Given the description of an element on the screen output the (x, y) to click on. 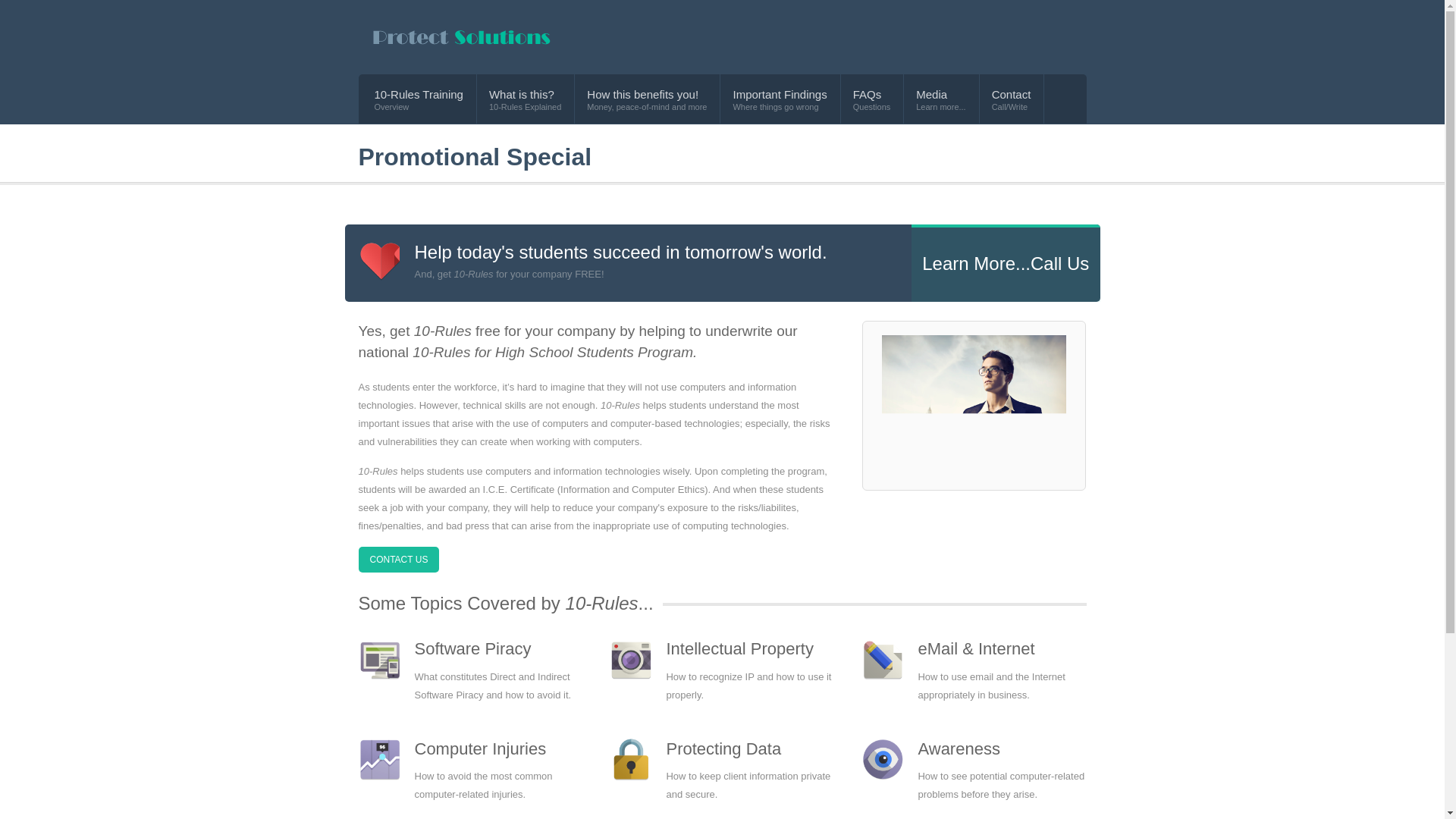
How this benefits you! (646, 93)
10-Rules Explained (524, 106)
Contact (1010, 93)
Where things go wrong (779, 106)
Learn more... (940, 106)
Questions (872, 106)
10-Rules Training (418, 93)
FAQs (872, 93)
Important Findings (779, 93)
Media (940, 93)
